Given the description of an element on the screen output the (x, y) to click on. 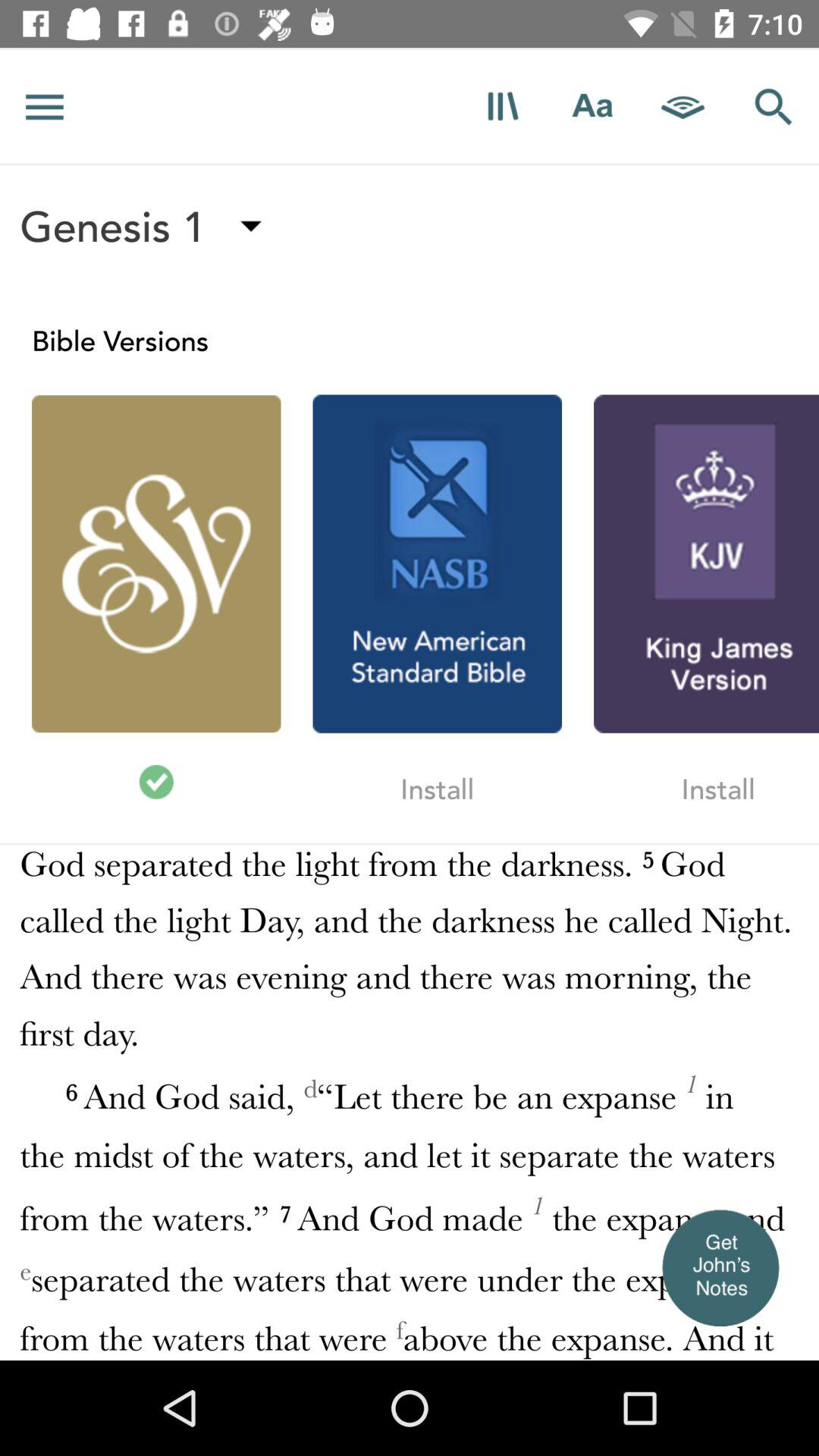
tap item at the bottom right corner (720, 1267)
